Given the description of an element on the screen output the (x, y) to click on. 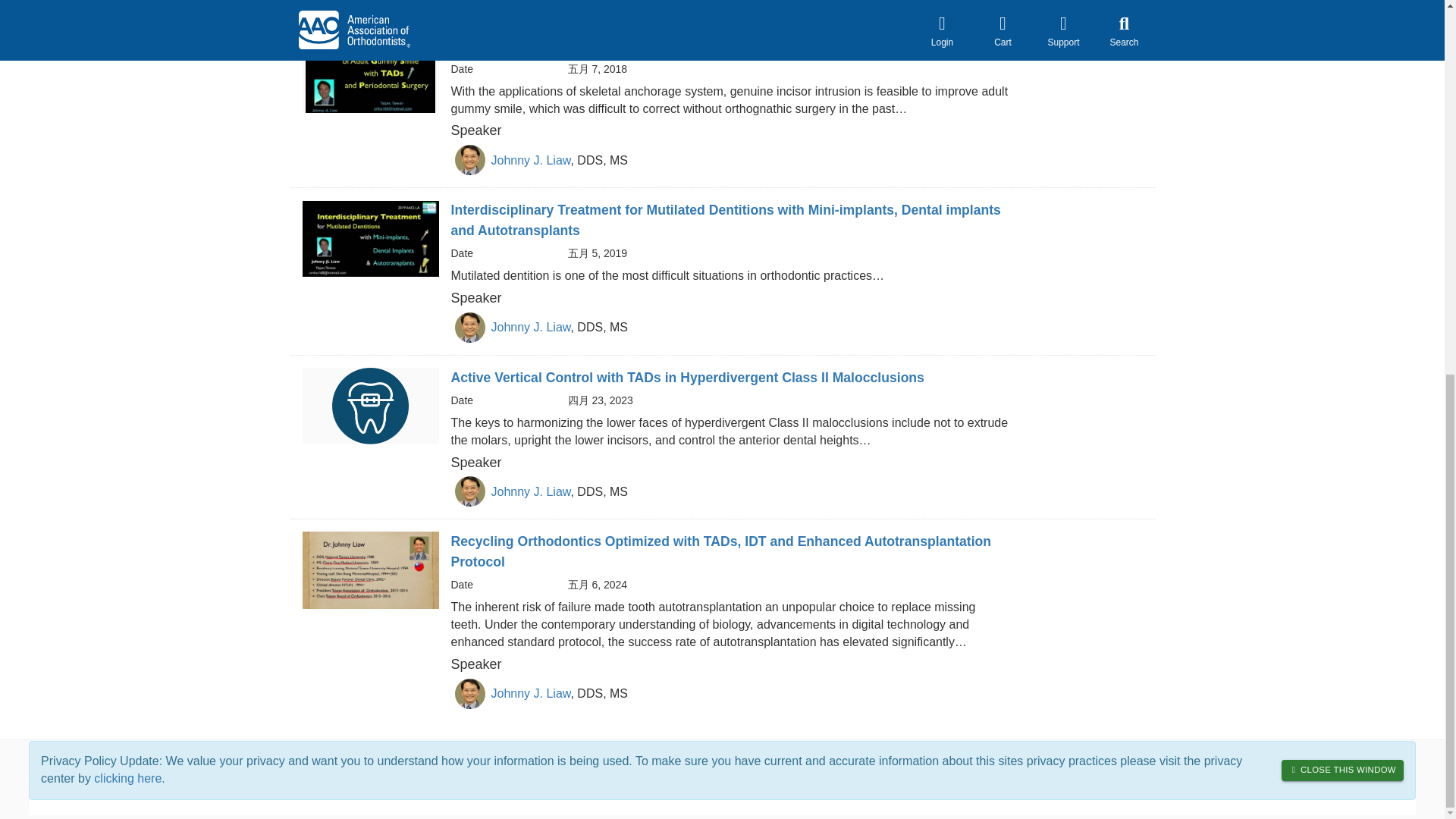
Speaker Image for Johnny Liaw (469, 5)
Johnny J. Liaw (531, 491)
Privacy Center (1120, 756)
Johnny J. Liaw (531, 693)
Speaker Image for Johnny Liaw (469, 327)
Speaker Image for Johnny Liaw (469, 490)
Johnny J. Liaw (531, 160)
CLOSE THIS WINDOW (1342, 84)
clicking here (127, 91)
